Given the description of an element on the screen output the (x, y) to click on. 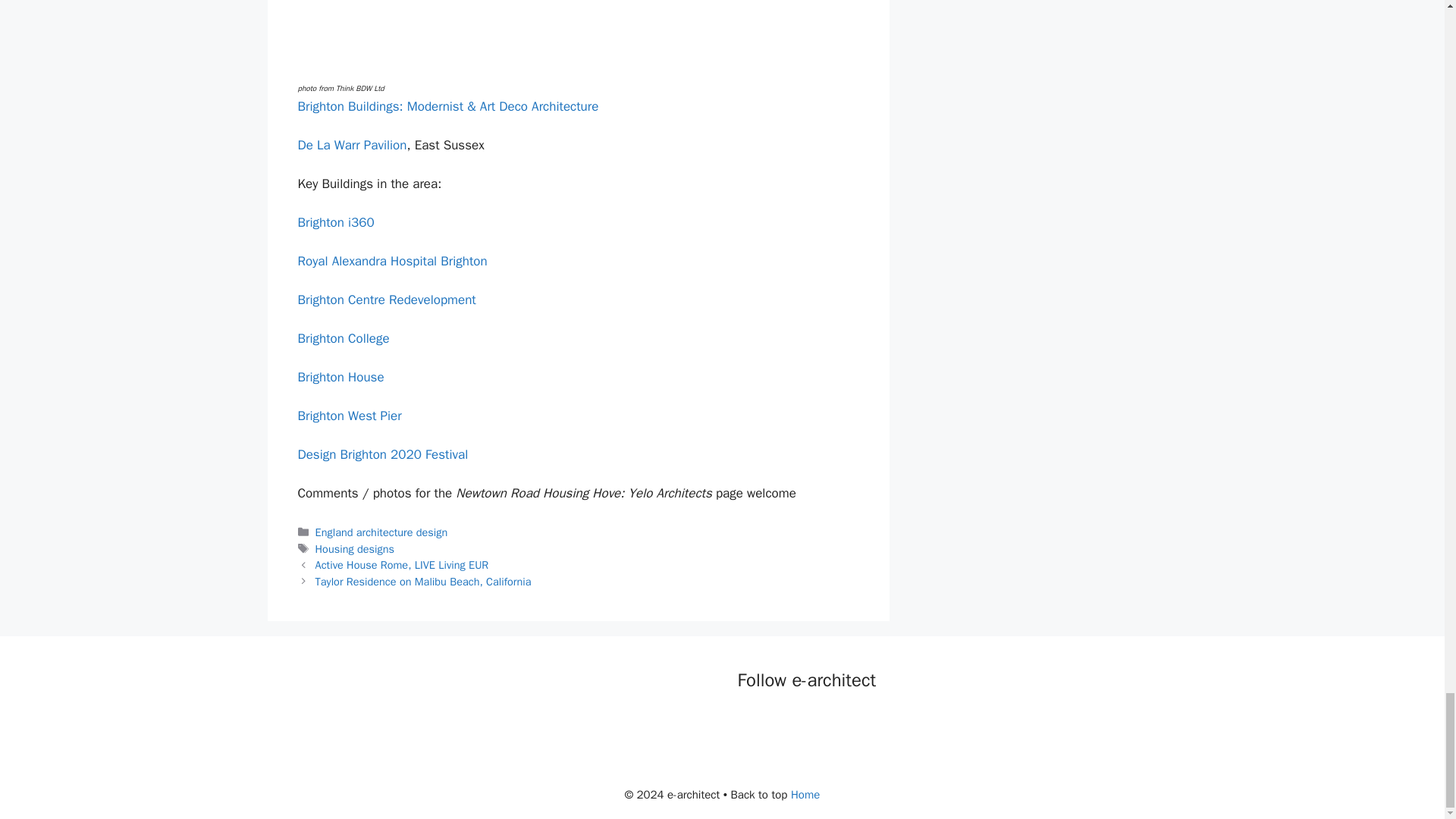
instagram (842, 722)
facebook (749, 722)
linkedin (811, 722)
twitter (781, 722)
